Given the description of an element on the screen output the (x, y) to click on. 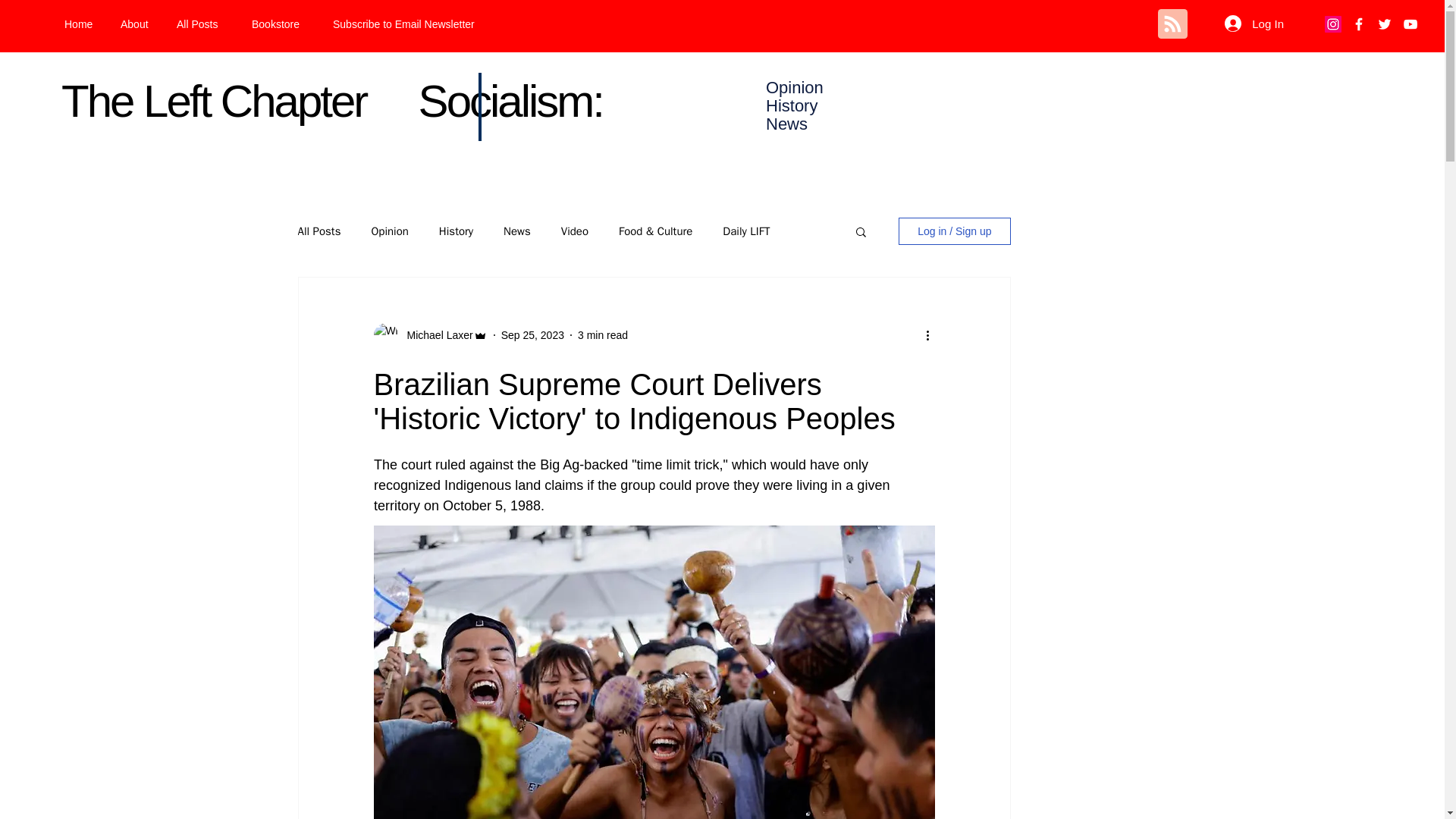
Subscribe to Email Newsletter (420, 24)
Bookstore (280, 24)
Home (80, 24)
Log In (1254, 23)
All Posts (318, 231)
3 min read (602, 335)
Sep 25, 2023 (532, 335)
History (456, 231)
The Left Chapter     Socialism: (331, 101)
Michael Laxer (434, 335)
Opinion (389, 231)
News (517, 231)
All Posts (202, 24)
About (137, 24)
Video (574, 231)
